Given the description of an element on the screen output the (x, y) to click on. 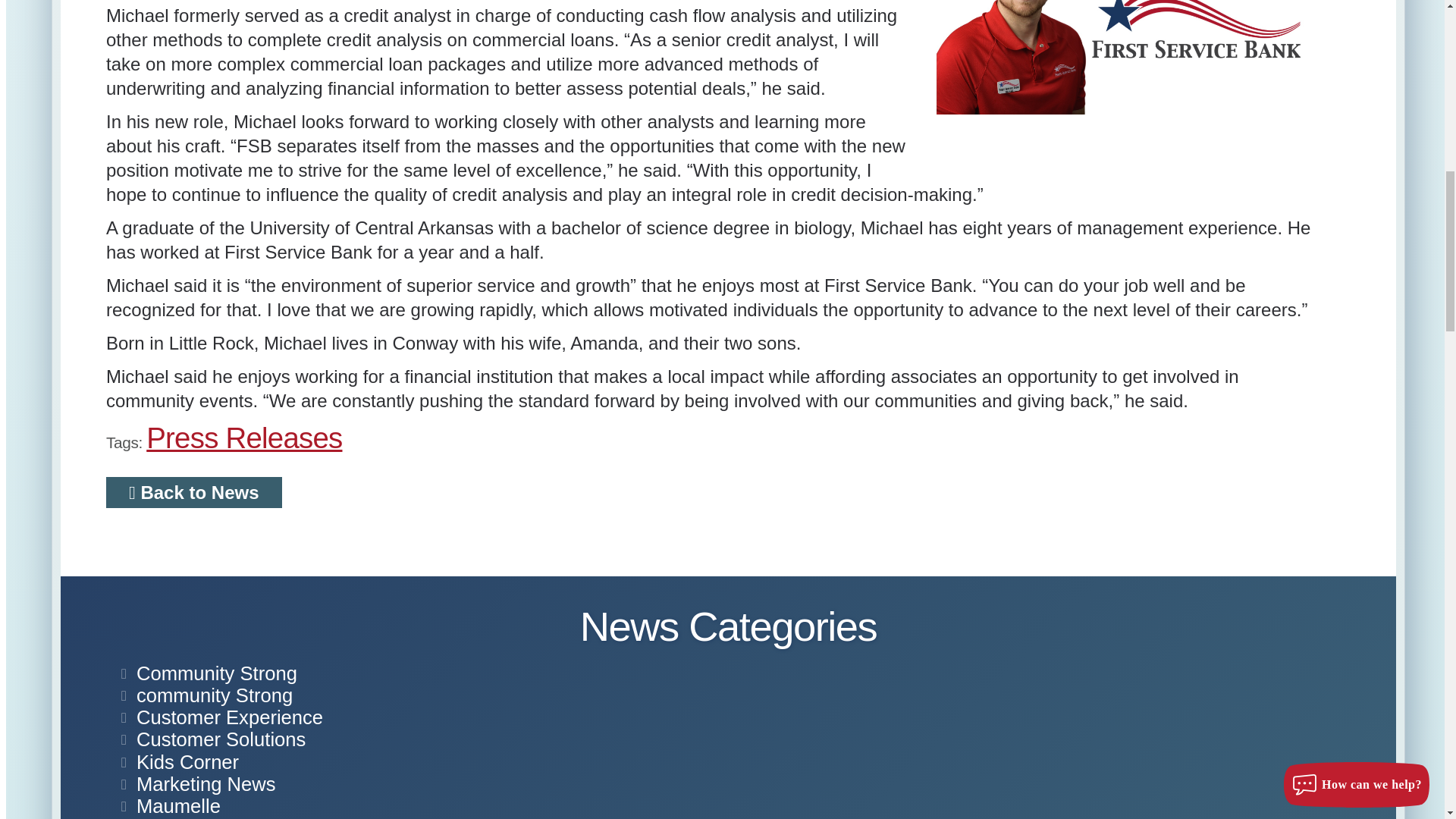
community Strong (214, 694)
Marketing News (205, 783)
Manley named senior credit analyst (1123, 57)
Customer Experience (229, 717)
Maumelle (178, 805)
Community Strong (216, 672)
Customer Solutions (220, 739)
News (160, 818)
Kids Corner (187, 761)
